Given the description of an element on the screen output the (x, y) to click on. 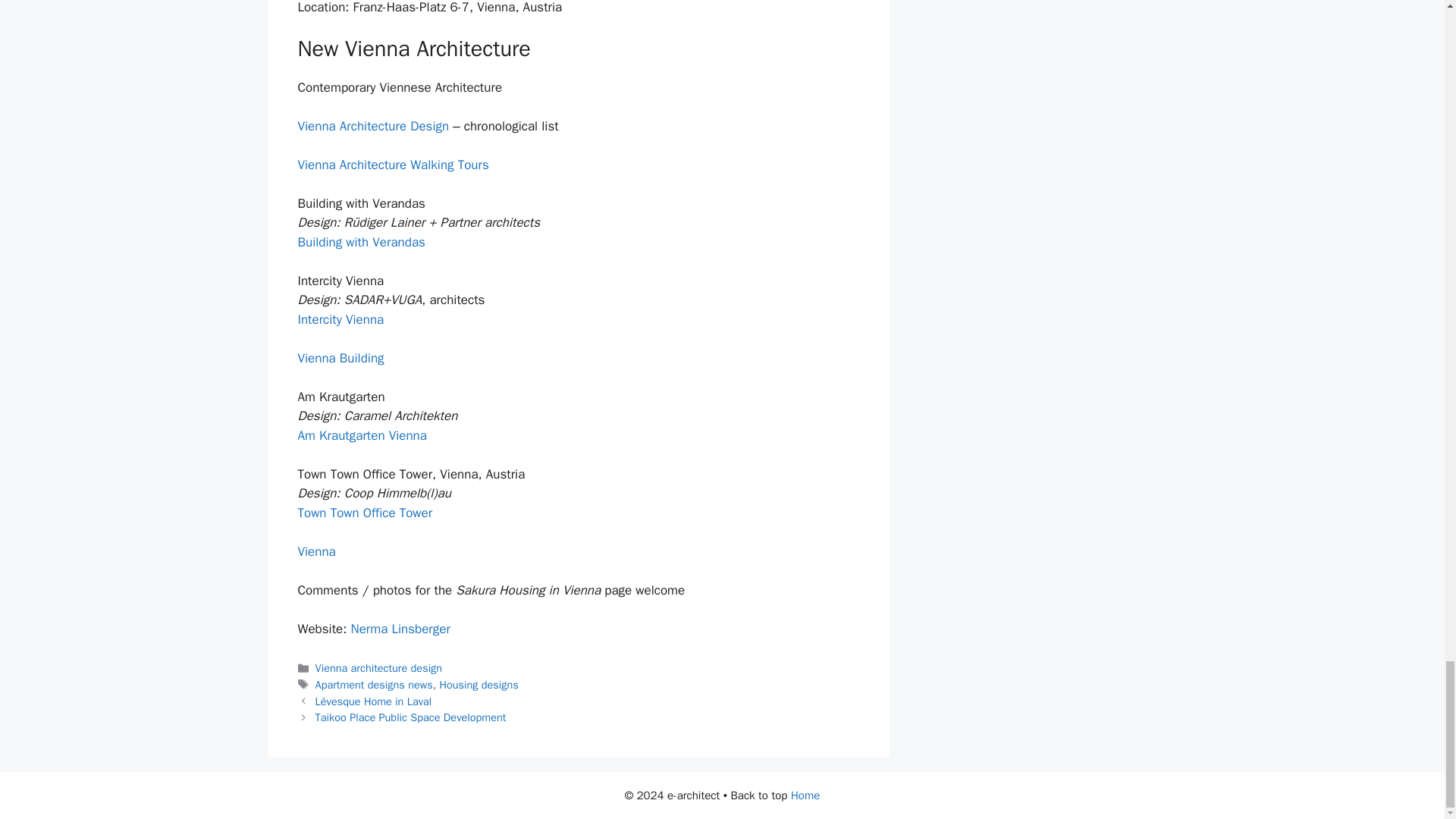
Building with Verandas (361, 242)
Vienna Architecture Walking Tours (392, 164)
Vienna Architecture Design (372, 125)
